Given the description of an element on the screen output the (x, y) to click on. 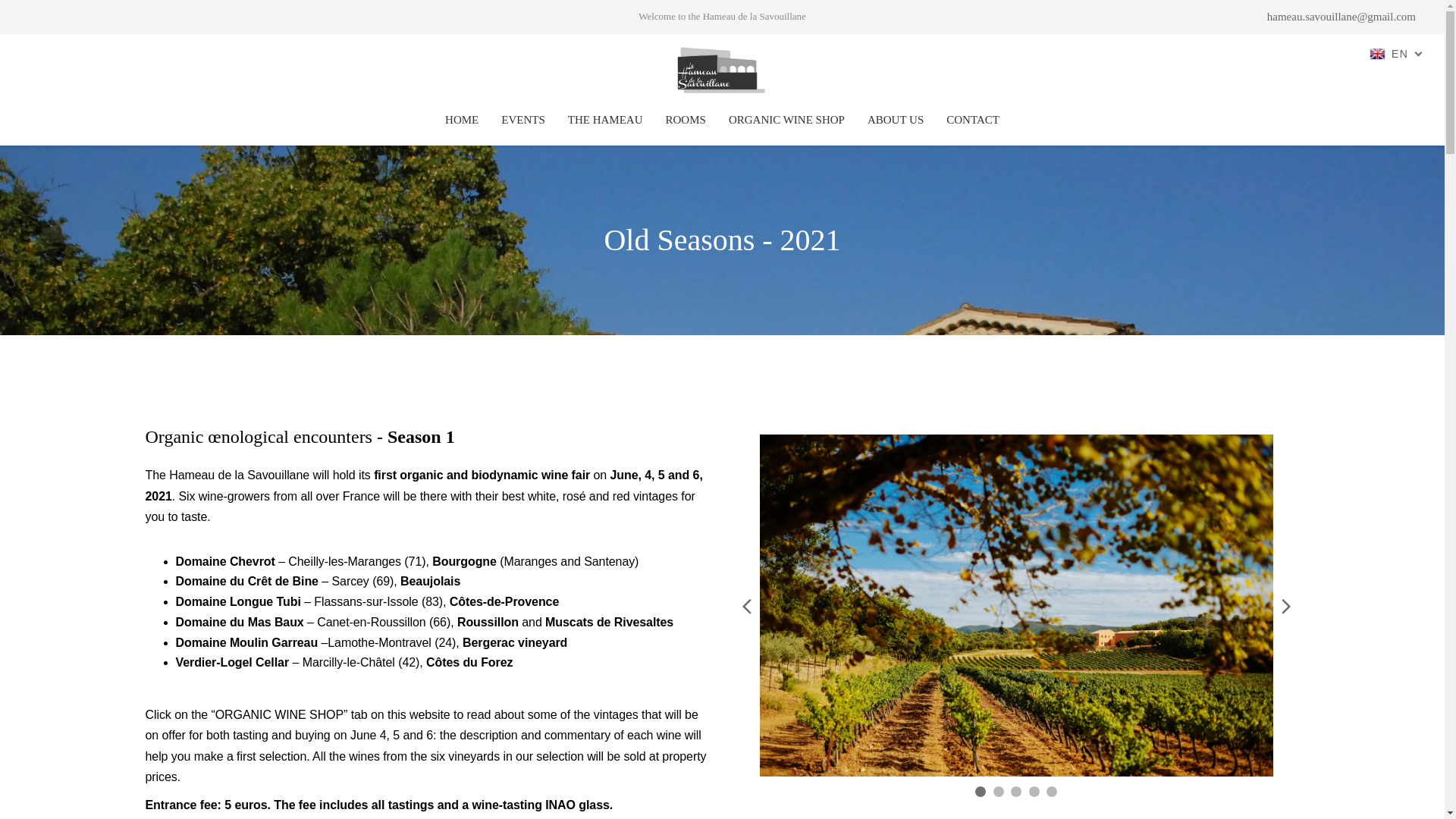
EVENTS (522, 119)
HOME (462, 119)
THE HAMEAU (605, 119)
ORGANIC WINE SHOP (786, 119)
ROOMS (685, 119)
Hameau de la Savouillane on Facebook (37, 16)
CONTACT (972, 119)
ABOUT US (895, 119)
Hameau de la Savouillane on Instagram (53, 16)
